Given the description of an element on the screen output the (x, y) to click on. 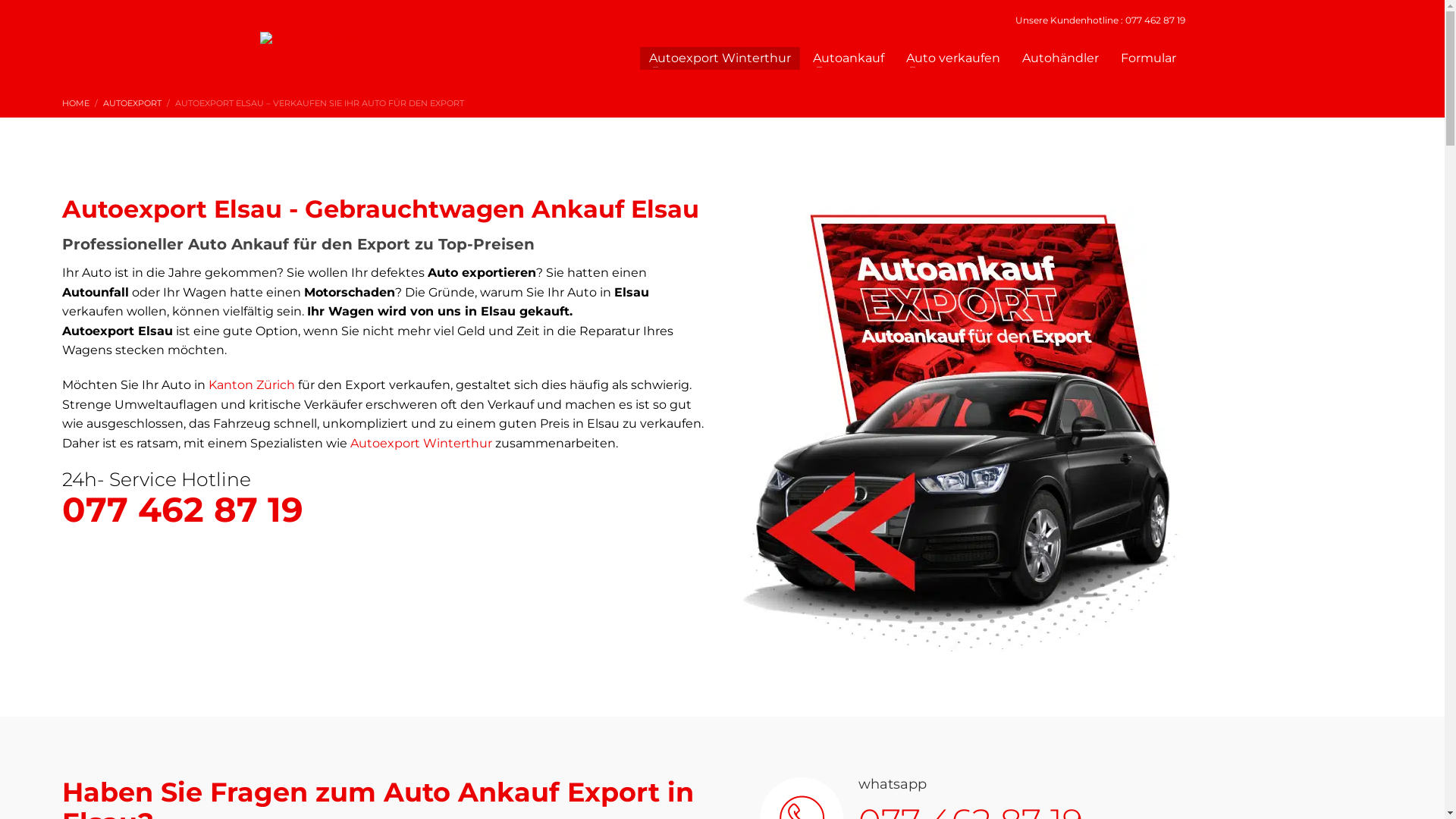
HOME Element type: text (75, 102)
Formular Element type: text (1148, 58)
Gebrauchtwagen Ankauf Element type: text (464, 208)
Autoexport Winterthur Element type: text (720, 58)
Autoexport Winterthur Element type: text (421, 443)
Autoexport Elsau Element type: hover (1219, 216)
AUTOEXPORT Element type: text (132, 102)
Autoankauf Element type: text (848, 58)
Autoexport Elsau Element type: hover (960, 435)
Auto verkaufen Element type: text (953, 58)
